Given the description of an element on the screen output the (x, y) to click on. 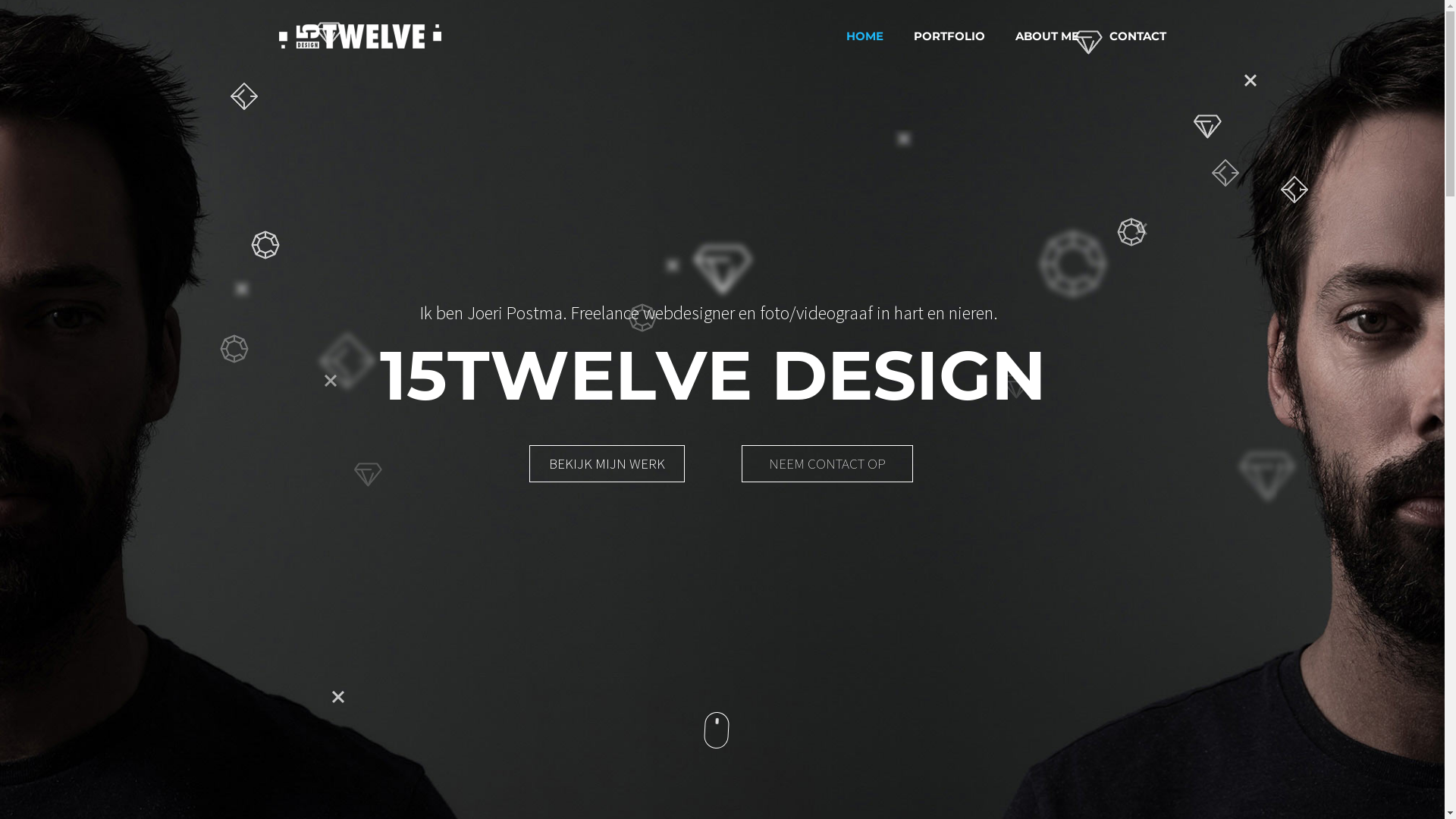
CONTACT Element type: text (1136, 36)
ABOUT ME Element type: text (1046, 36)
NEEM CONTACT OP Element type: text (827, 463)
HOME Element type: text (864, 36)
PORTFOLIO Element type: text (948, 36)
mouse Element type: text (715, 729)
